Given the description of an element on the screen output the (x, y) to click on. 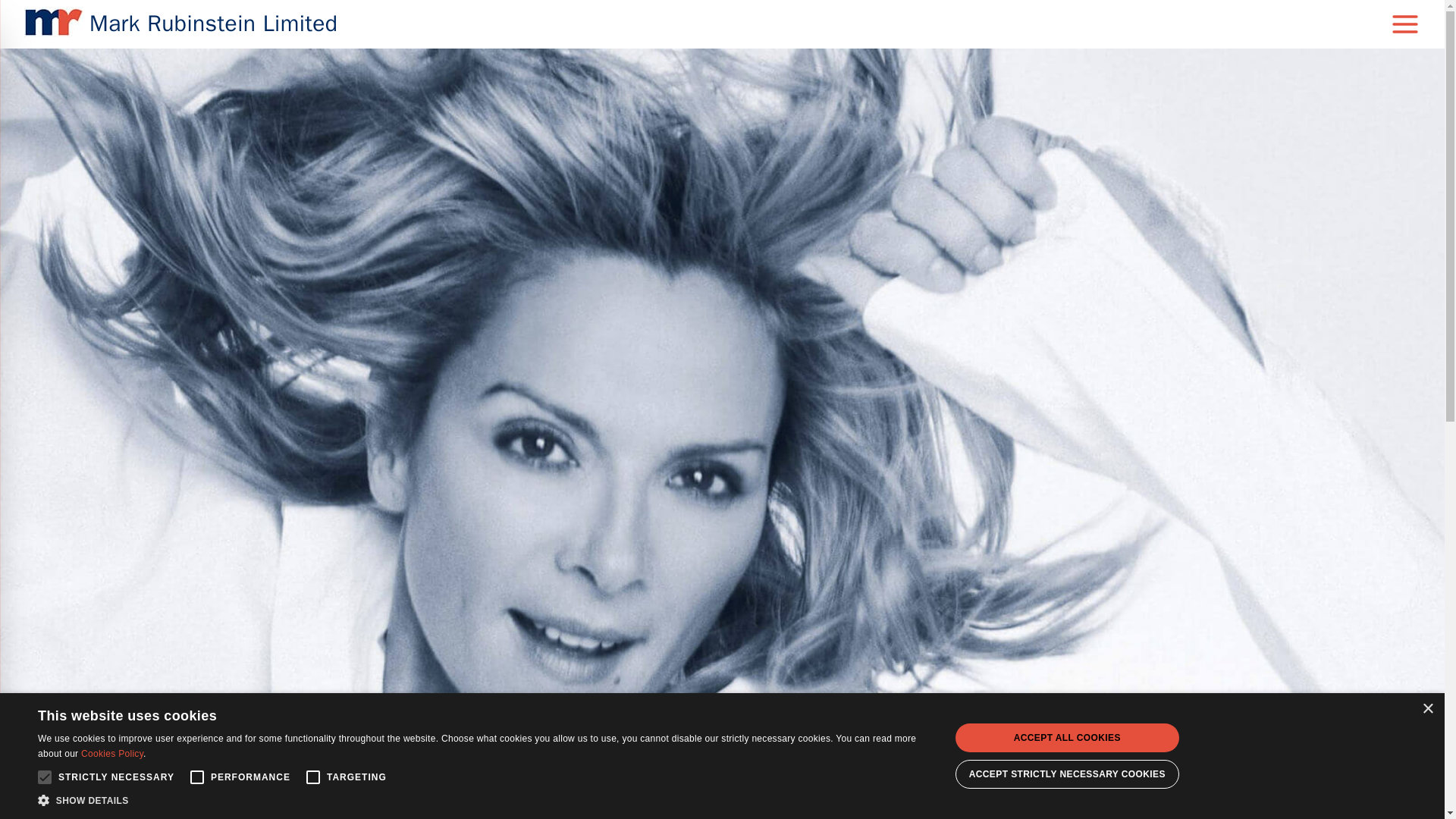
Team (781, 742)
Job Opportunities (901, 742)
About MRL (734, 742)
Contact Us (975, 742)
Privacy Notice (702, 767)
Our Awards (828, 742)
Consultancy (672, 742)
Site by 2smallfeet (828, 767)
General Management (590, 742)
Cookies (760, 767)
